Given the description of an element on the screen output the (x, y) to click on. 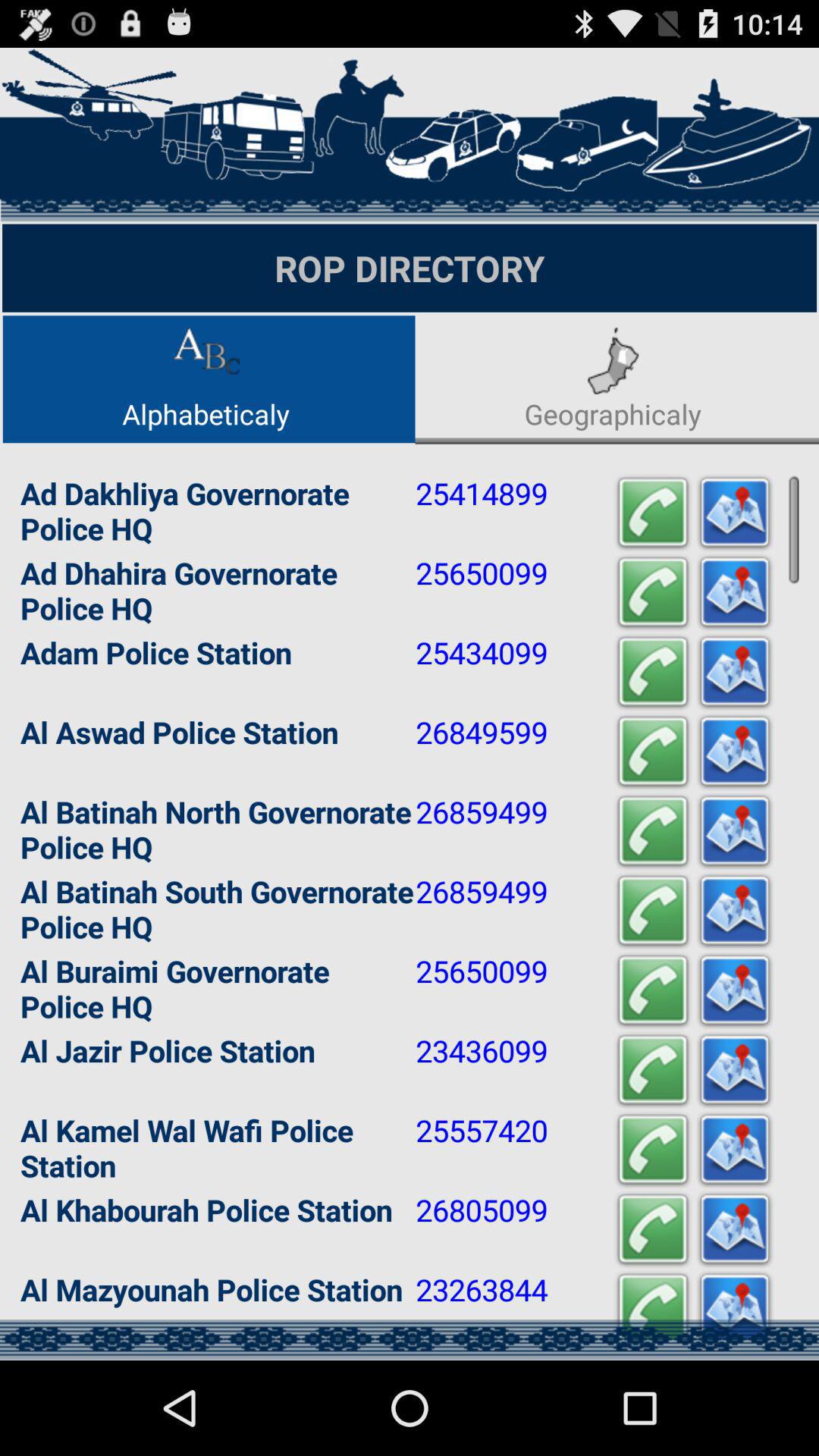
go to call (652, 592)
